Given the description of an element on the screen output the (x, y) to click on. 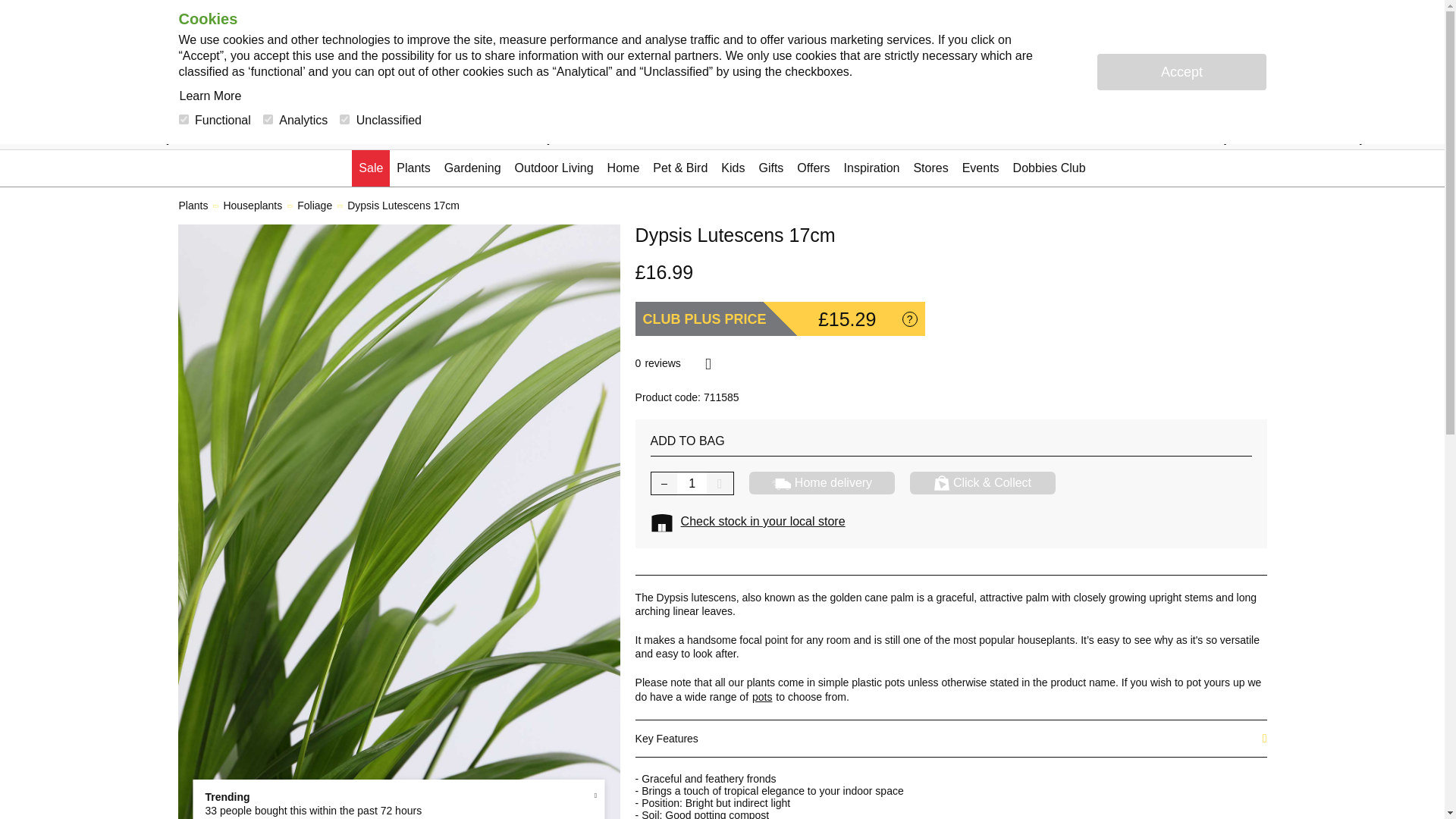
Press to increment quantity by 1 (719, 483)
Plants (413, 167)
on (344, 119)
FREE DELIVERY (920, 127)
on (184, 119)
Learn More (211, 95)
CHECK STOCK (196, 127)
Cart (1248, 38)
Search (721, 38)
Learn More (211, 95)
Accept (1180, 72)
on (268, 119)
INTEREST FREE CREDIT (1278, 127)
Sale (371, 167)
1 (691, 483)
